Given the description of an element on the screen output the (x, y) to click on. 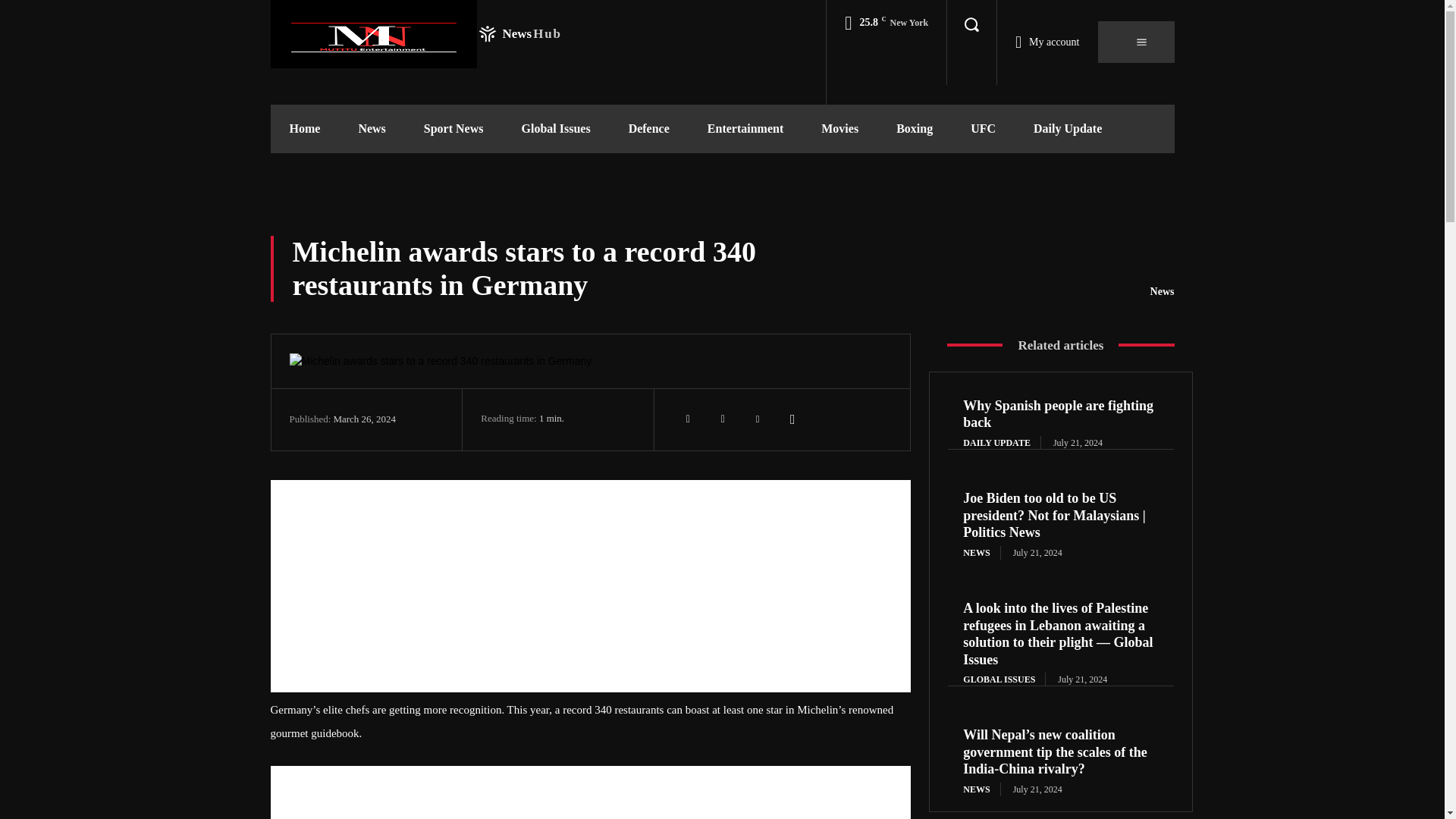
Global Issues (555, 128)
Sport News (453, 128)
Home (304, 128)
Michelin awards stars to a record 340 restaurants in Germany (414, 33)
News (590, 360)
